Given the description of an element on the screen output the (x, y) to click on. 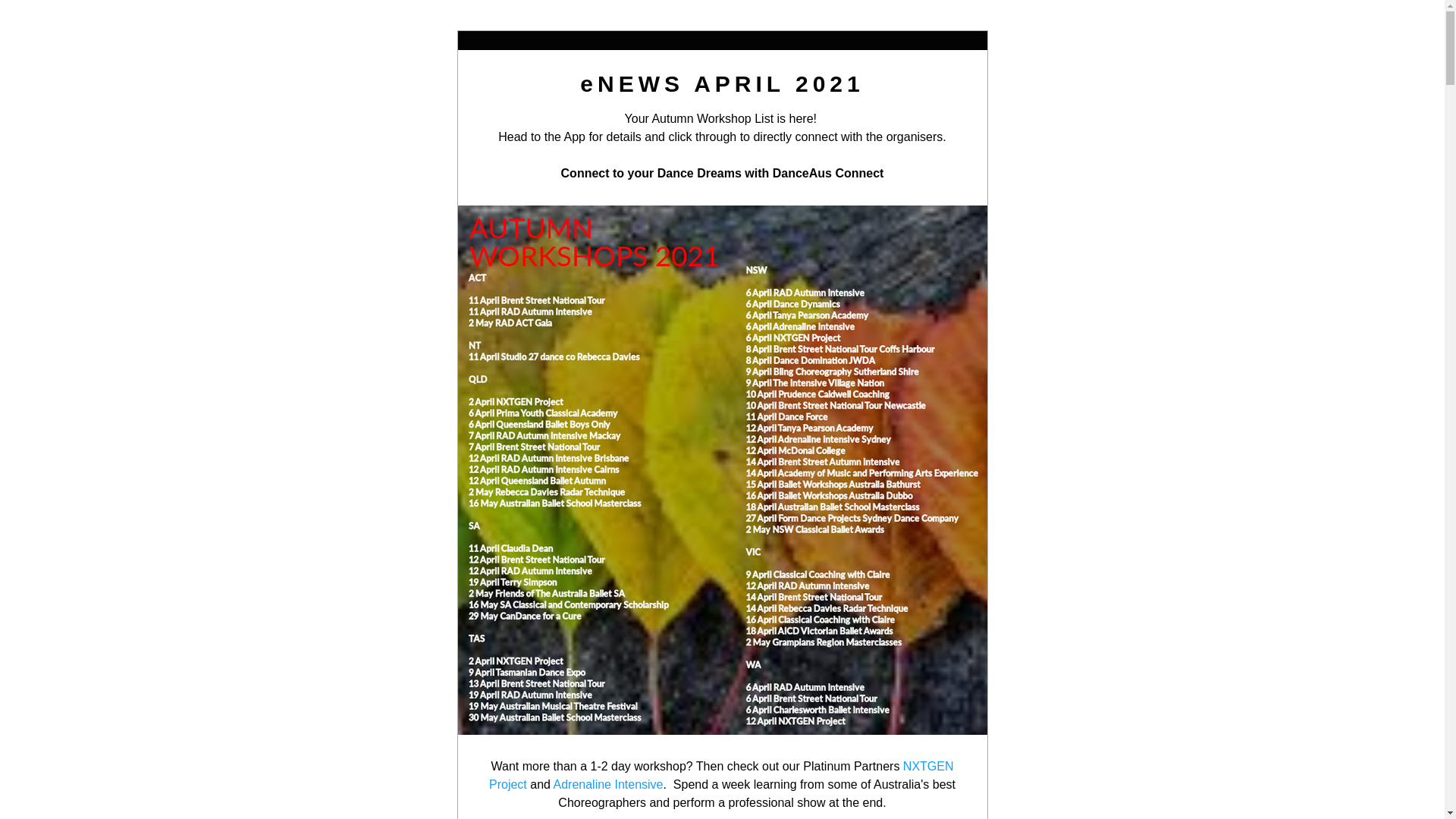
NXTGEN Project Element type: text (723, 774)
Adrenaline Intensive Element type: text (608, 784)
